Given the description of an element on the screen output the (x, y) to click on. 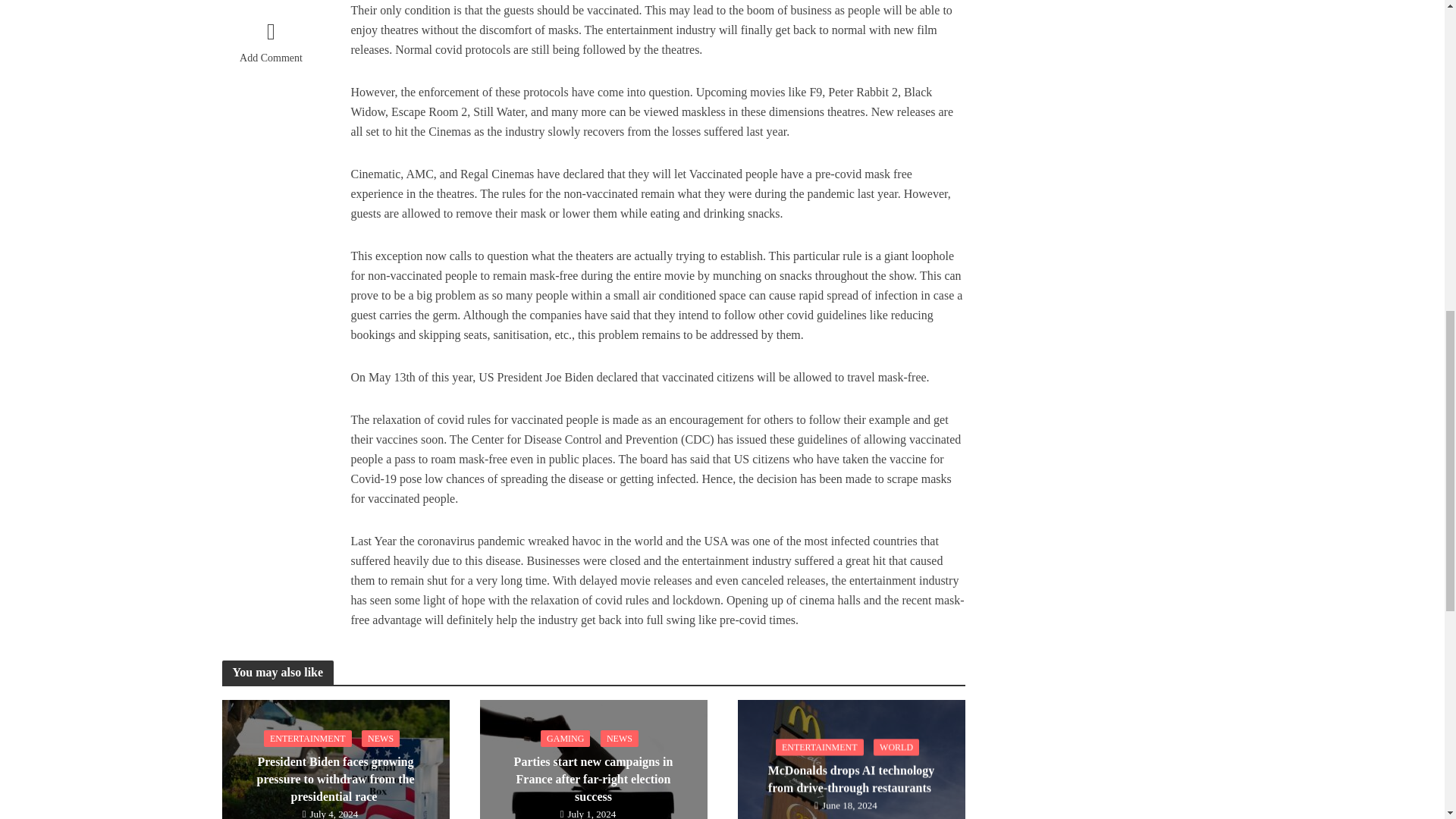
WORLD (895, 747)
Tom Fiore (270, 0)
Add Comment (270, 45)
ENTERTAINMENT (307, 738)
NEWS (619, 738)
ENTERTAINMENT (819, 747)
NEWS (379, 738)
GAMING (564, 738)
